Given the description of an element on the screen output the (x, y) to click on. 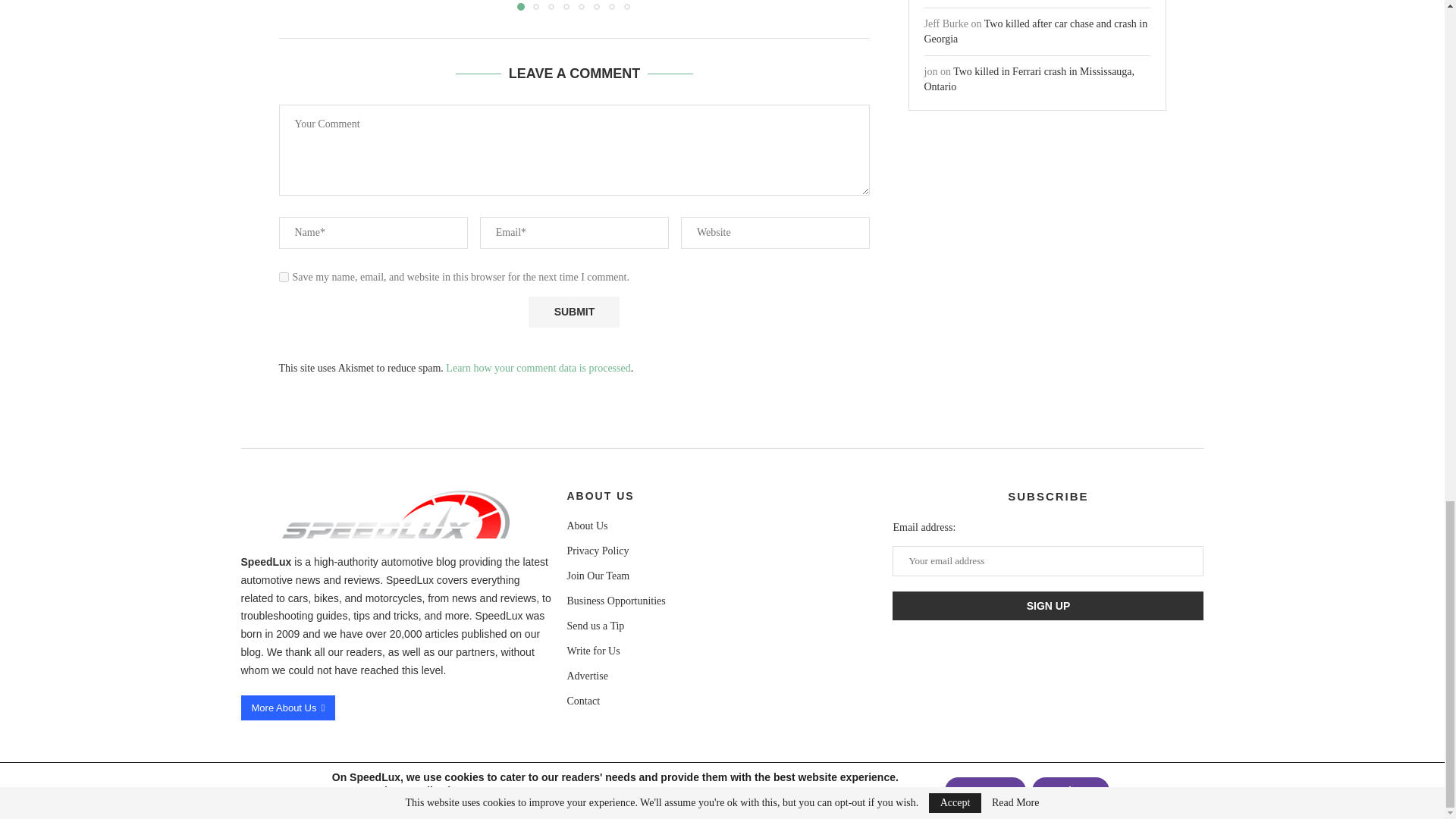
Submit (574, 311)
yes (283, 276)
Sign up (1048, 605)
